Given the description of an element on the screen output the (x, y) to click on. 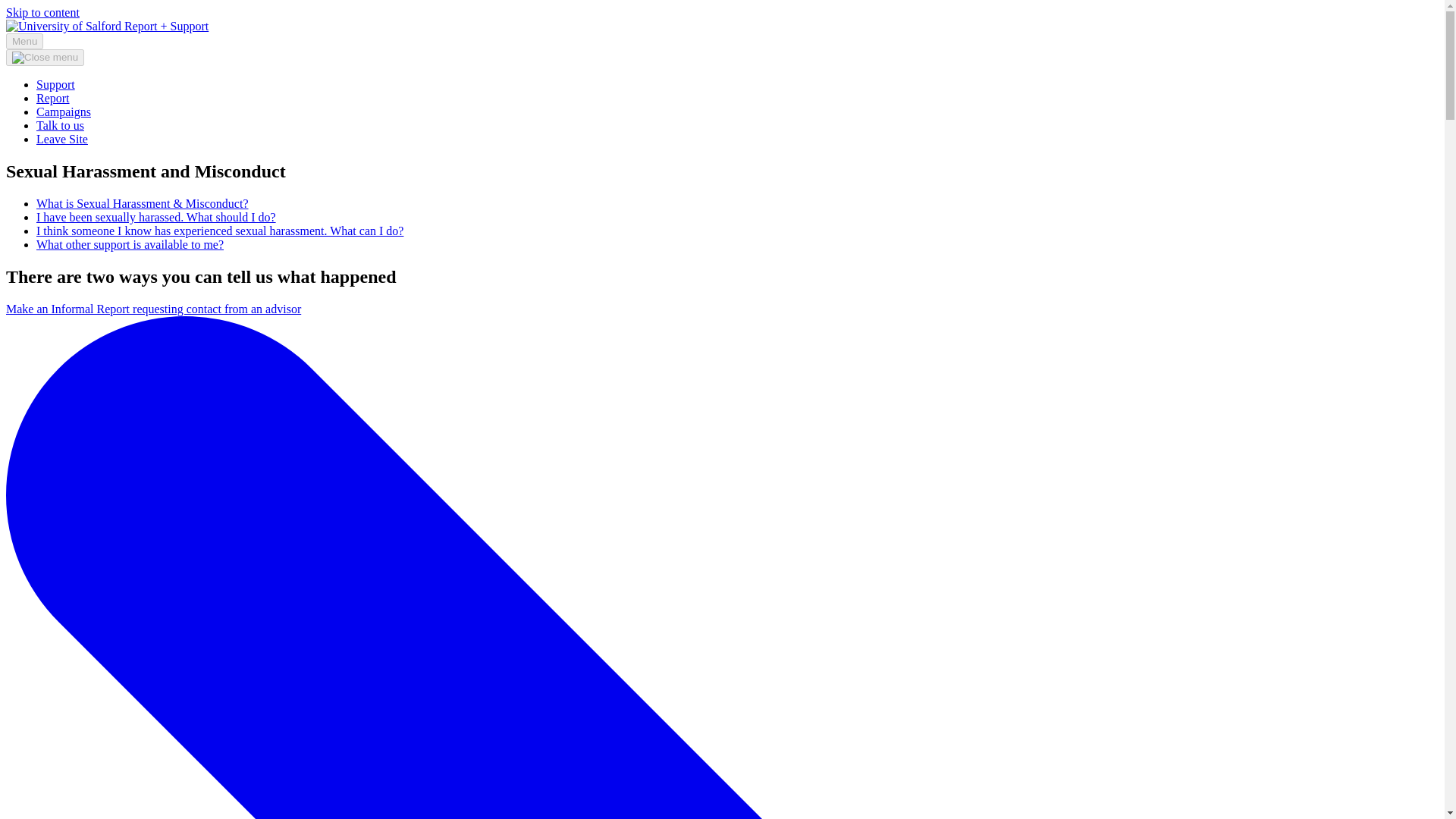
Home (106, 25)
Campaigns (63, 111)
Support (55, 83)
Menu (24, 41)
Report (52, 97)
Leave Site (61, 138)
Talk to us (60, 124)
I have been sexually harassed. What should I do? (156, 216)
Skip to content (42, 11)
What other support is available to me? (130, 244)
